Given the description of an element on the screen output the (x, y) to click on. 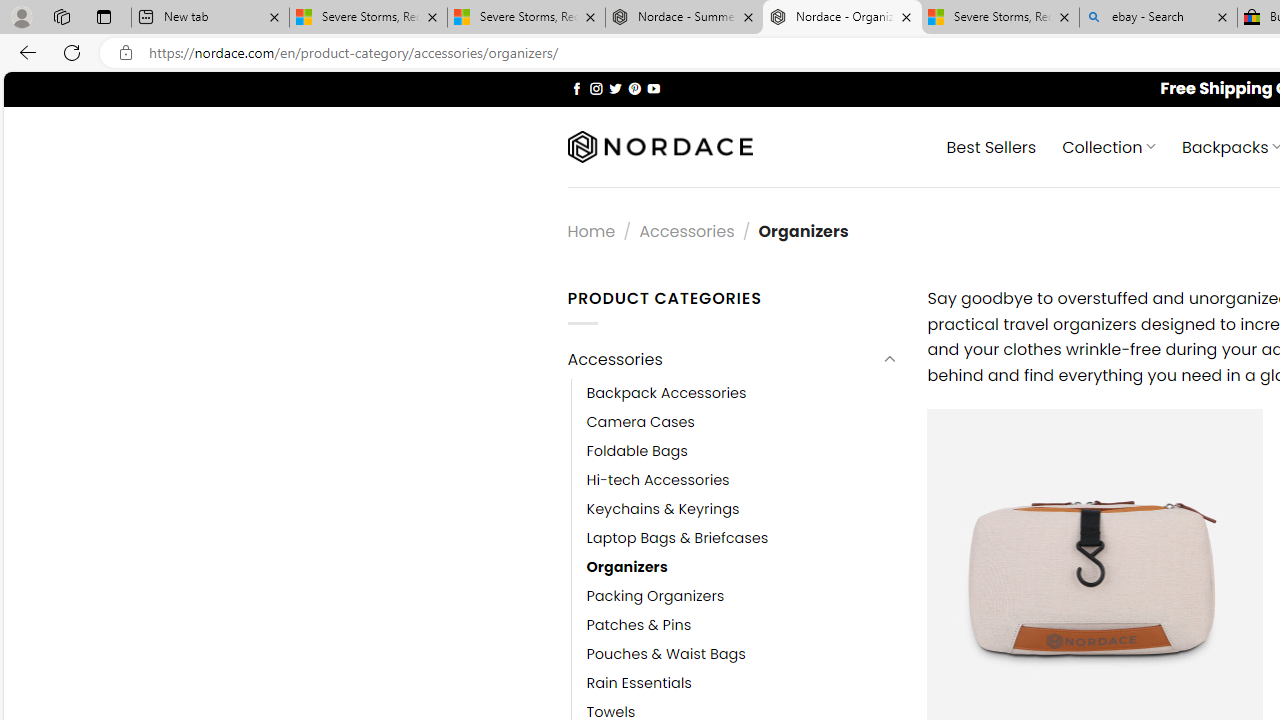
Accessories (721, 359)
Workspaces (61, 16)
Foldable Bags (637, 450)
Pouches & Waist Bags (742, 655)
